Given the description of an element on the screen output the (x, y) to click on. 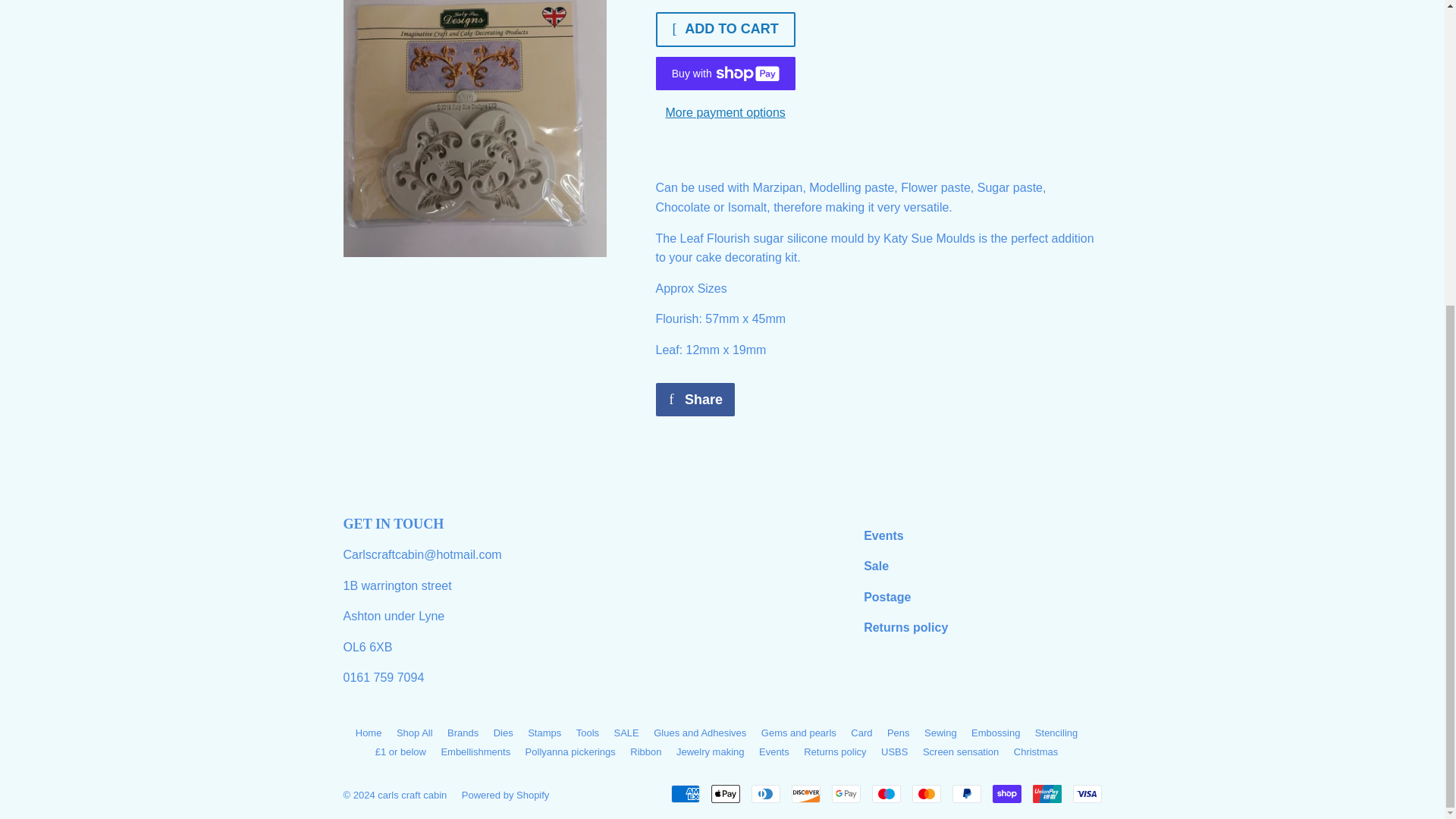
Shop Pay (1005, 793)
Apple Pay (725, 793)
American Express (683, 793)
Visa (1085, 793)
Events (882, 535)
Share on Facebook (694, 399)
Returns policy (905, 626)
SALE (875, 565)
Union Pay (1046, 793)
Diners Club (764, 793)
PayPal (966, 793)
Mastercard (925, 793)
Maestro (886, 793)
Google Pay (845, 793)
Postage (887, 596)
